Given the description of an element on the screen output the (x, y) to click on. 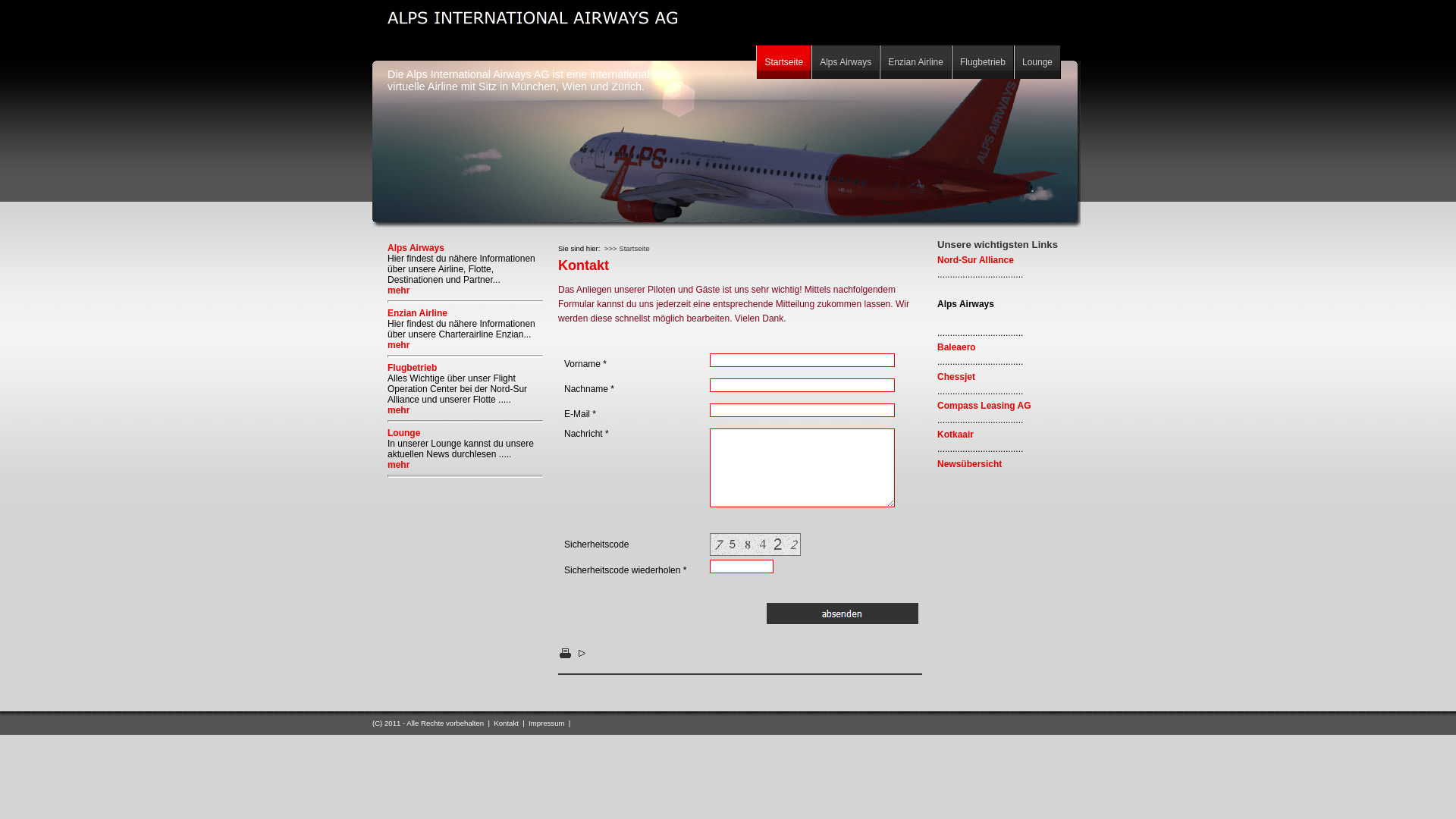
mehr Element type: text (398, 290)
Baleaero Element type: text (956, 347)
Lounge Element type: text (403, 432)
mehr Element type: text (398, 464)
Chessjet Element type: text (956, 376)
Alps Airways Element type: text (415, 247)
Flugbetrieb Element type: text (982, 61)
Enzian Airline Element type: text (915, 61)
Startseite Element type: text (783, 61)
Kontakt Element type: text (505, 722)
Flugbetrieb Element type: text (411, 367)
>>> Startseite Element type: text (626, 248)
Kotkaair Element type: text (955, 434)
Nord-Sur Alliance Element type: text (975, 259)
Alps Airways Element type: text (845, 61)
Impressum Element type: text (546, 722)
Enzian Airline Element type: text (417, 312)
mehr Element type: text (398, 409)
mehr Element type: text (398, 344)
Compass Leasing AG Element type: text (984, 405)
Lounge Element type: text (1036, 61)
